Given the description of an element on the screen output the (x, y) to click on. 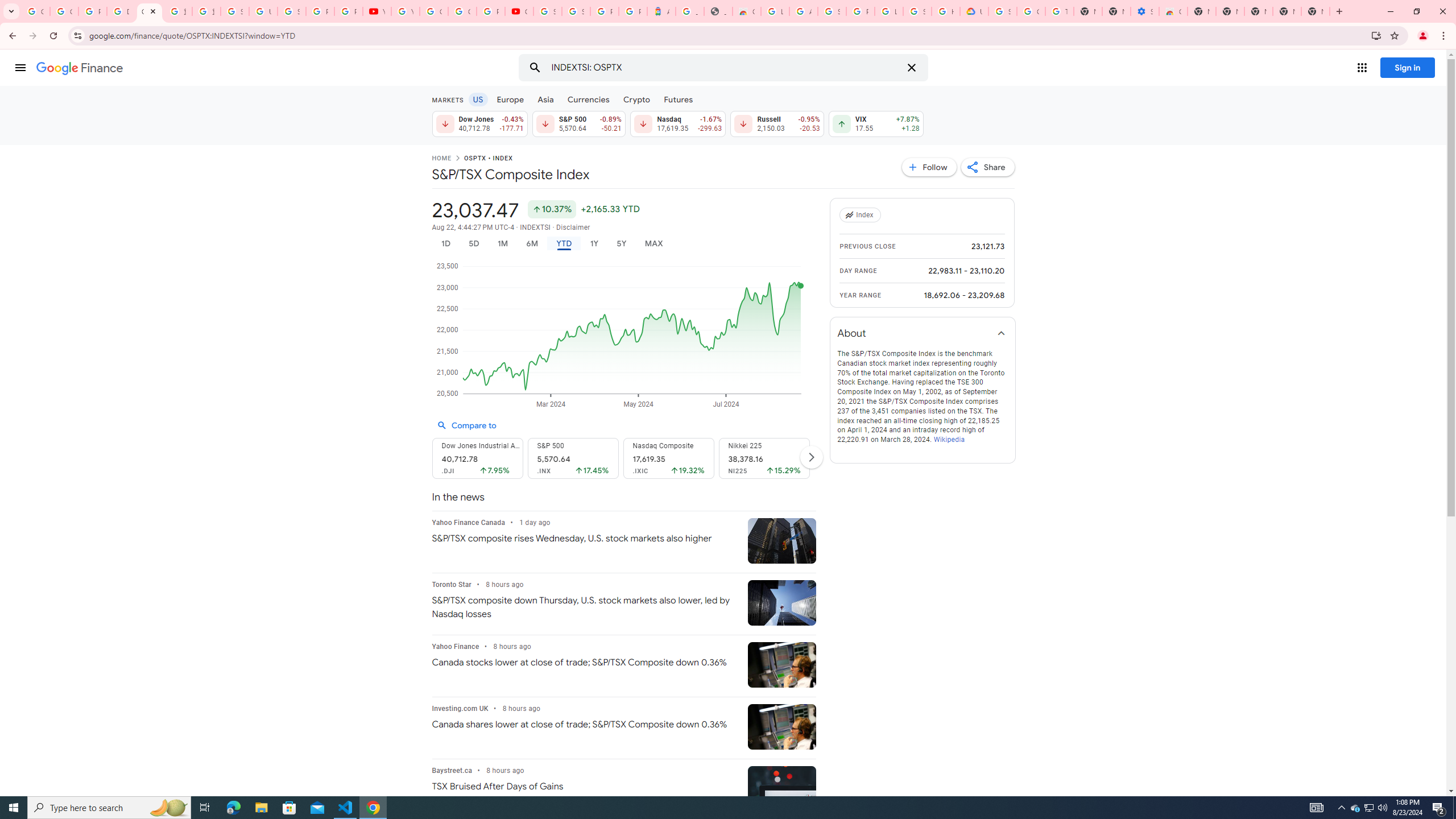
Sign in - Google Accounts (234, 11)
Google Account Help (1030, 11)
Clear search (911, 67)
Create your Google Account (461, 11)
YouTube (405, 11)
Settings - Accessibility (1144, 11)
Sign in - Google Accounts (831, 11)
MAX (653, 243)
